Given the description of an element on the screen output the (x, y) to click on. 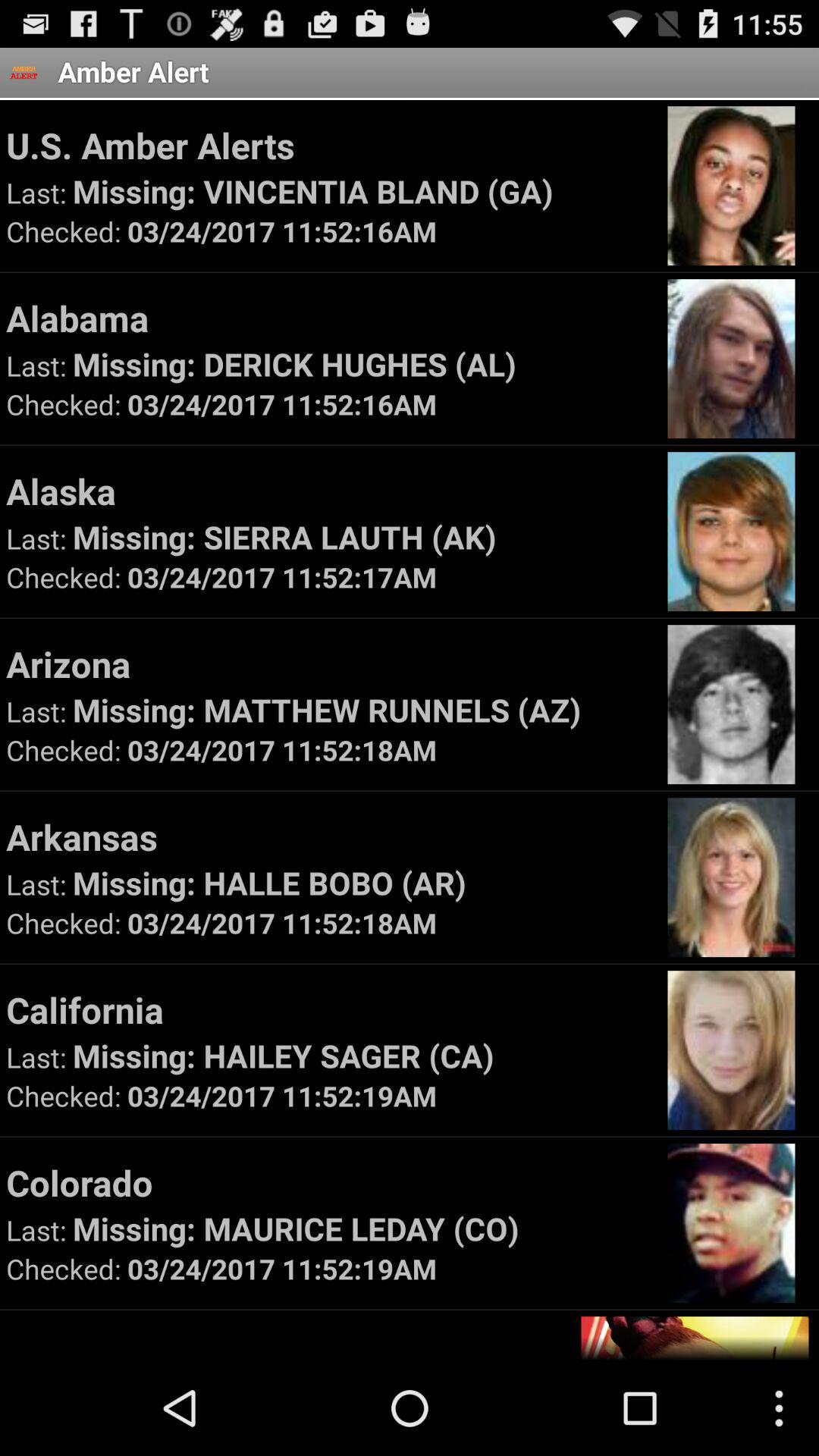
open icon above missing vincentia bland (329, 145)
